Given the description of an element on the screen output the (x, y) to click on. 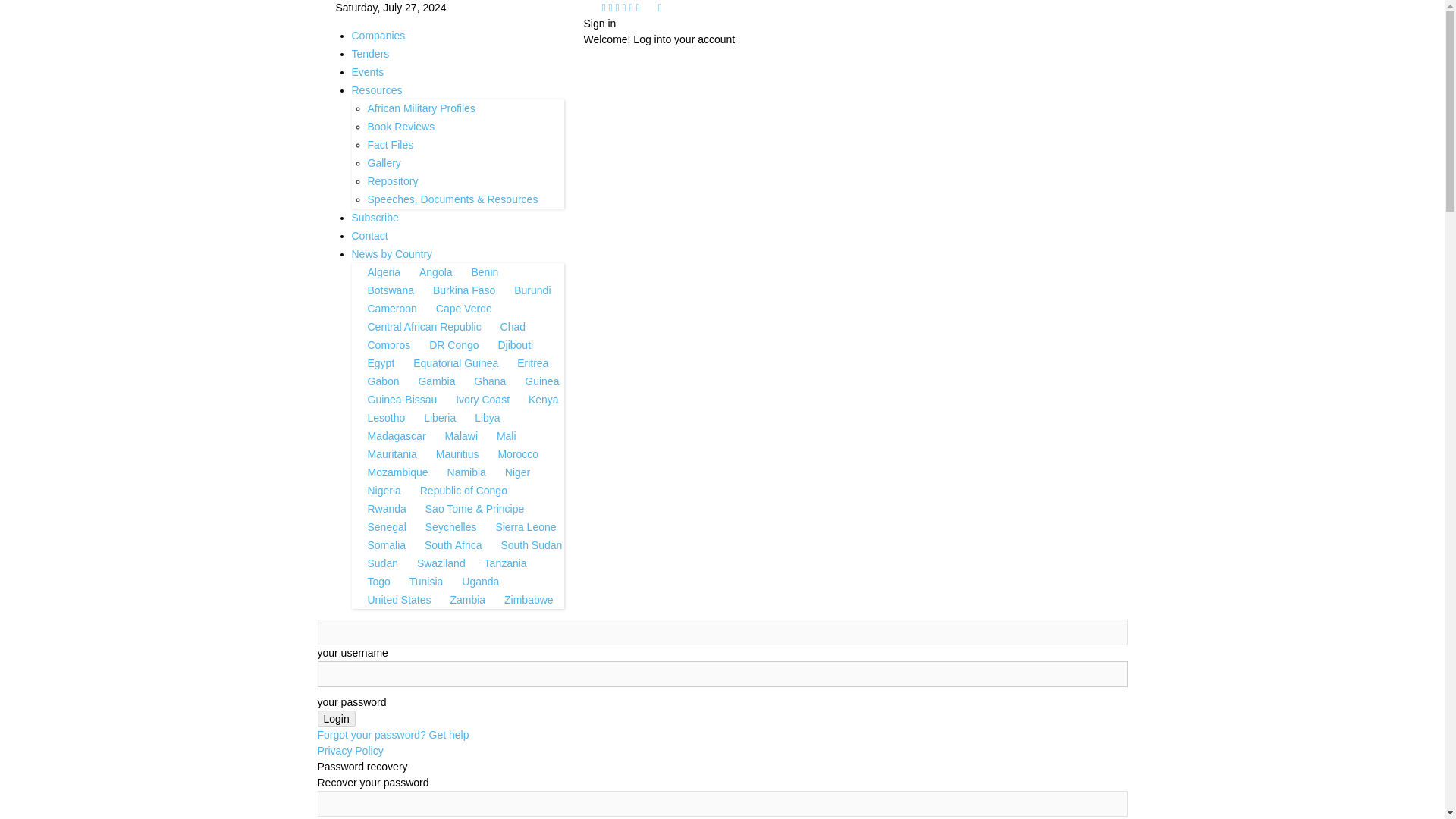
Login (336, 718)
